Given the description of an element on the screen output the (x, y) to click on. 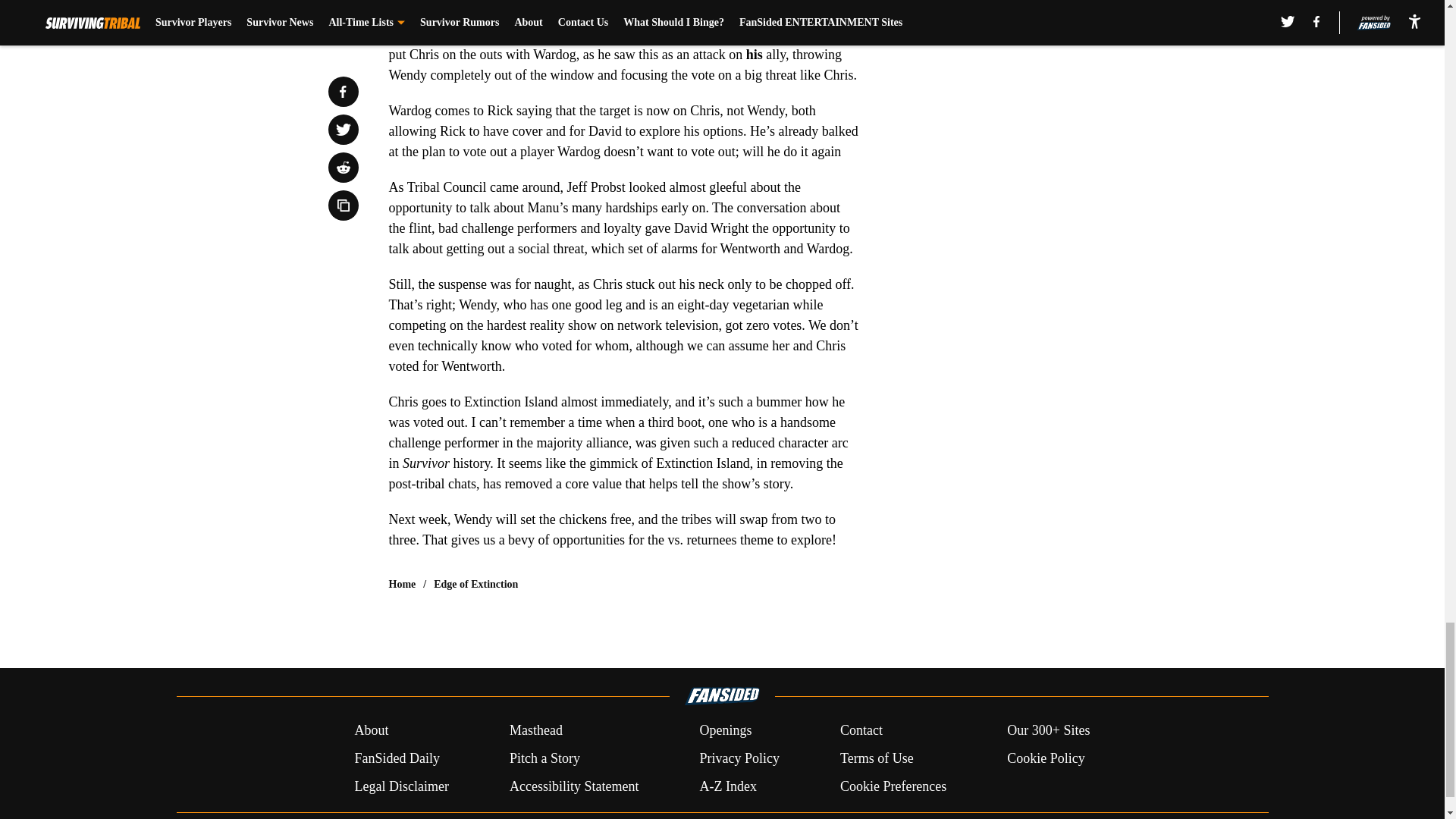
About (370, 730)
Contact (861, 730)
Home (401, 584)
FanSided Daily (396, 758)
Openings (724, 730)
Edge of Extinction (475, 584)
Terms of Use (877, 758)
Masthead (535, 730)
Legal Disclaimer (400, 786)
Accessibility Statement (574, 786)
